Given the description of an element on the screen output the (x, y) to click on. 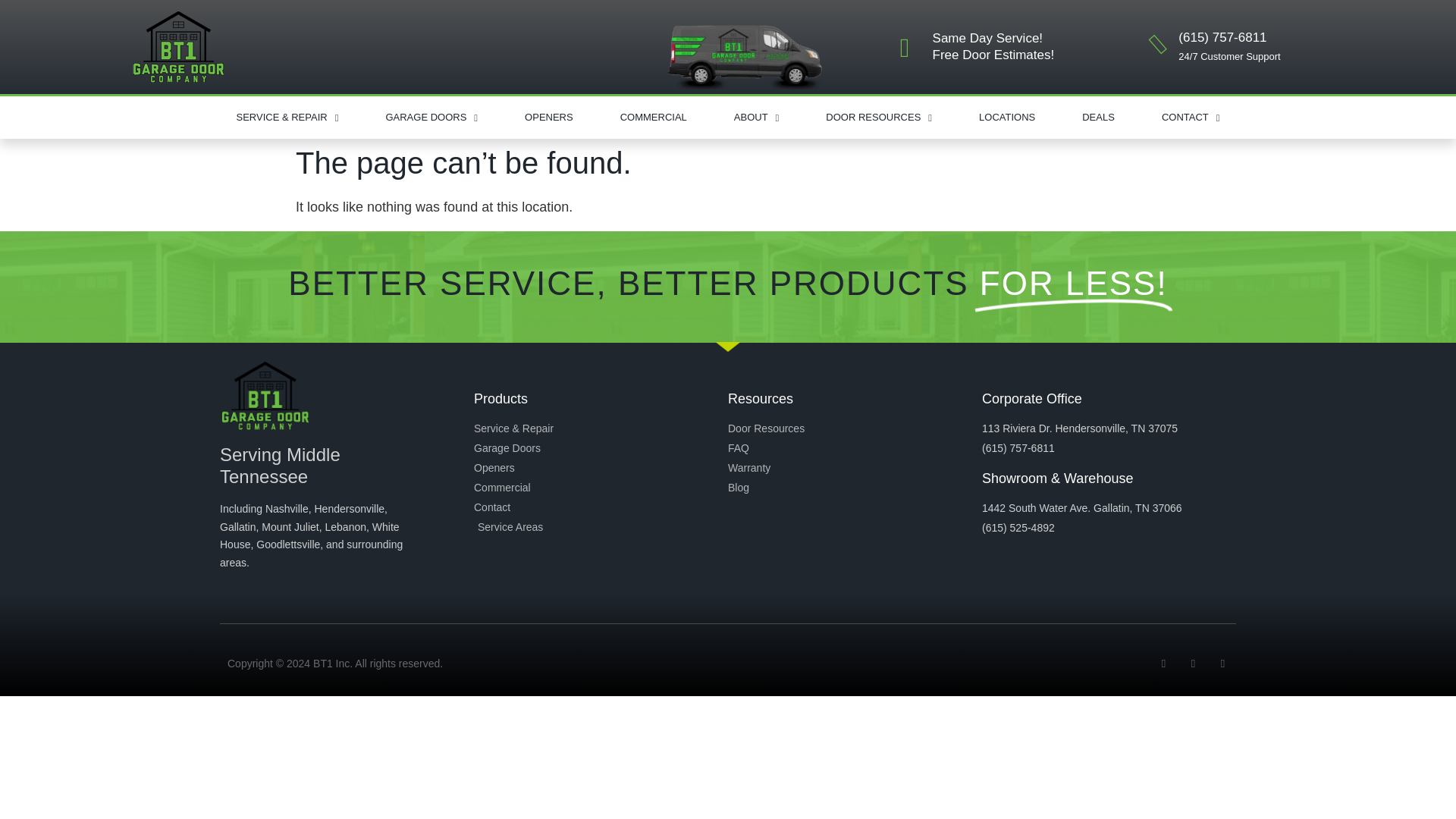
LOCATIONS (1006, 117)
DOOR RESOURCES (878, 117)
COMMERCIAL (653, 117)
OPENERS (548, 117)
GARAGE DOORS (430, 117)
ABOUT (756, 117)
CONTACT (1190, 117)
DEALS (1098, 117)
